Given the description of an element on the screen output the (x, y) to click on. 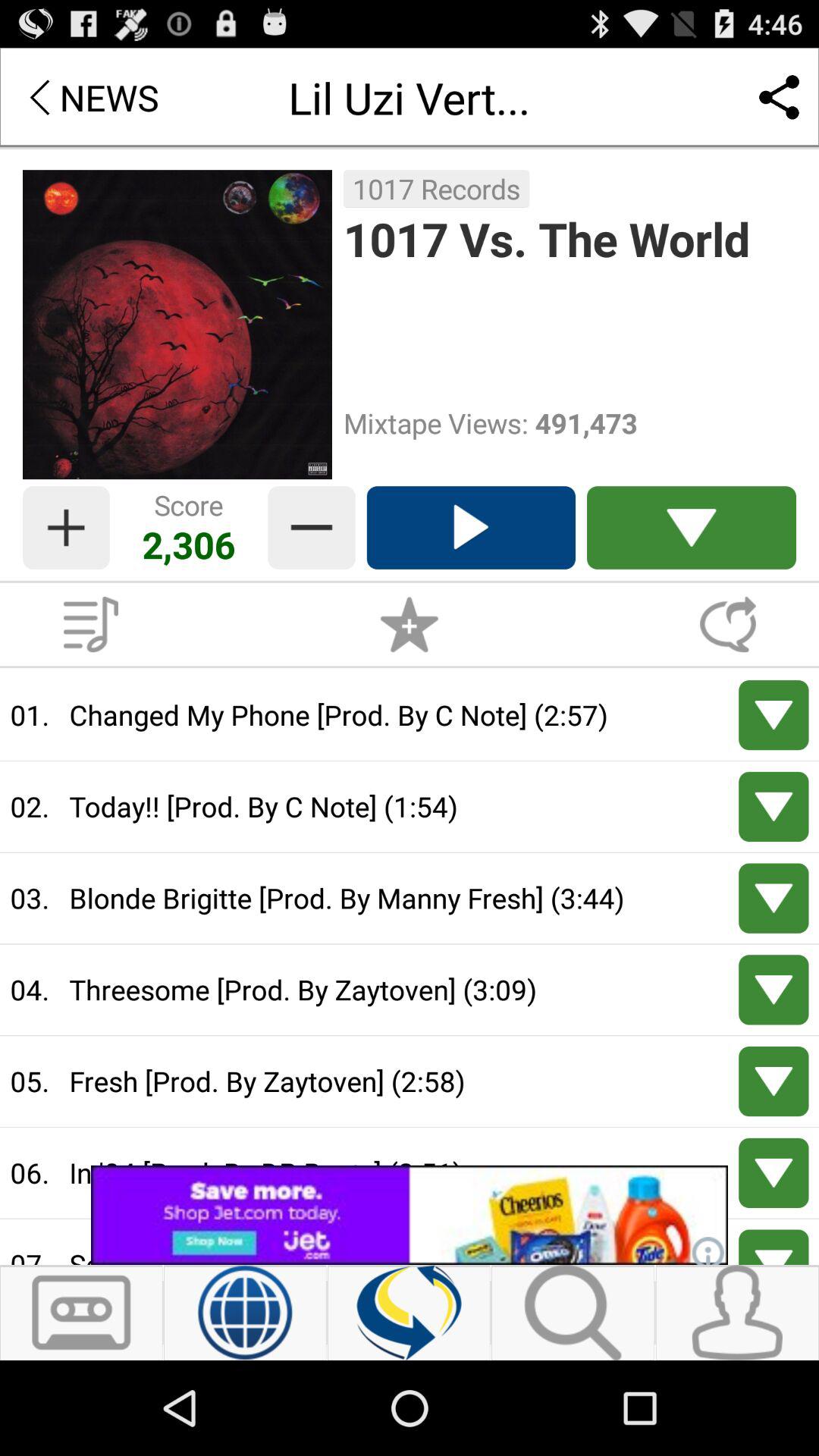
add comment (728, 624)
